Given the description of an element on the screen output the (x, y) to click on. 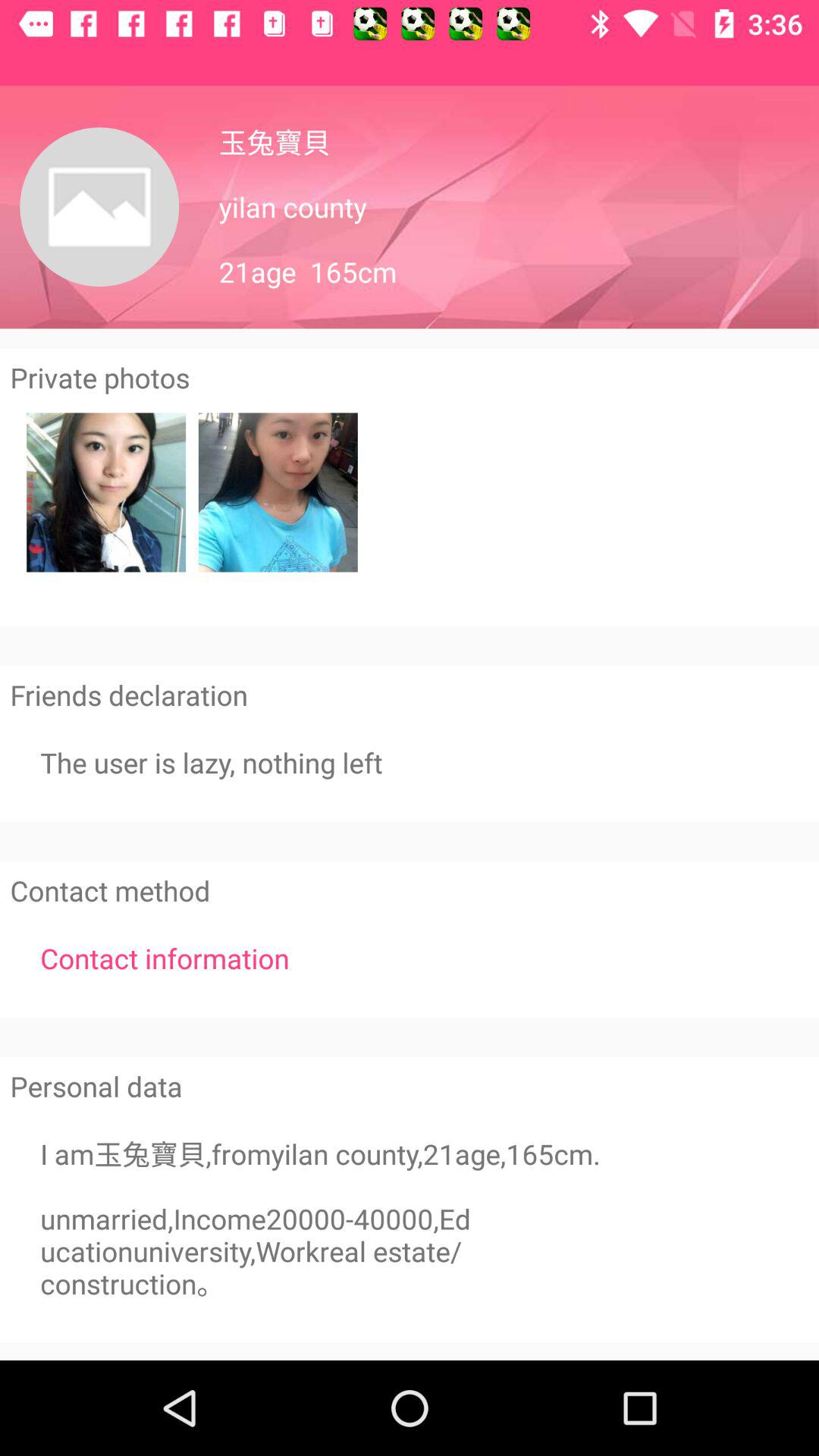
click on the second image below the text private photos (278, 492)
